Given the description of an element on the screen output the (x, y) to click on. 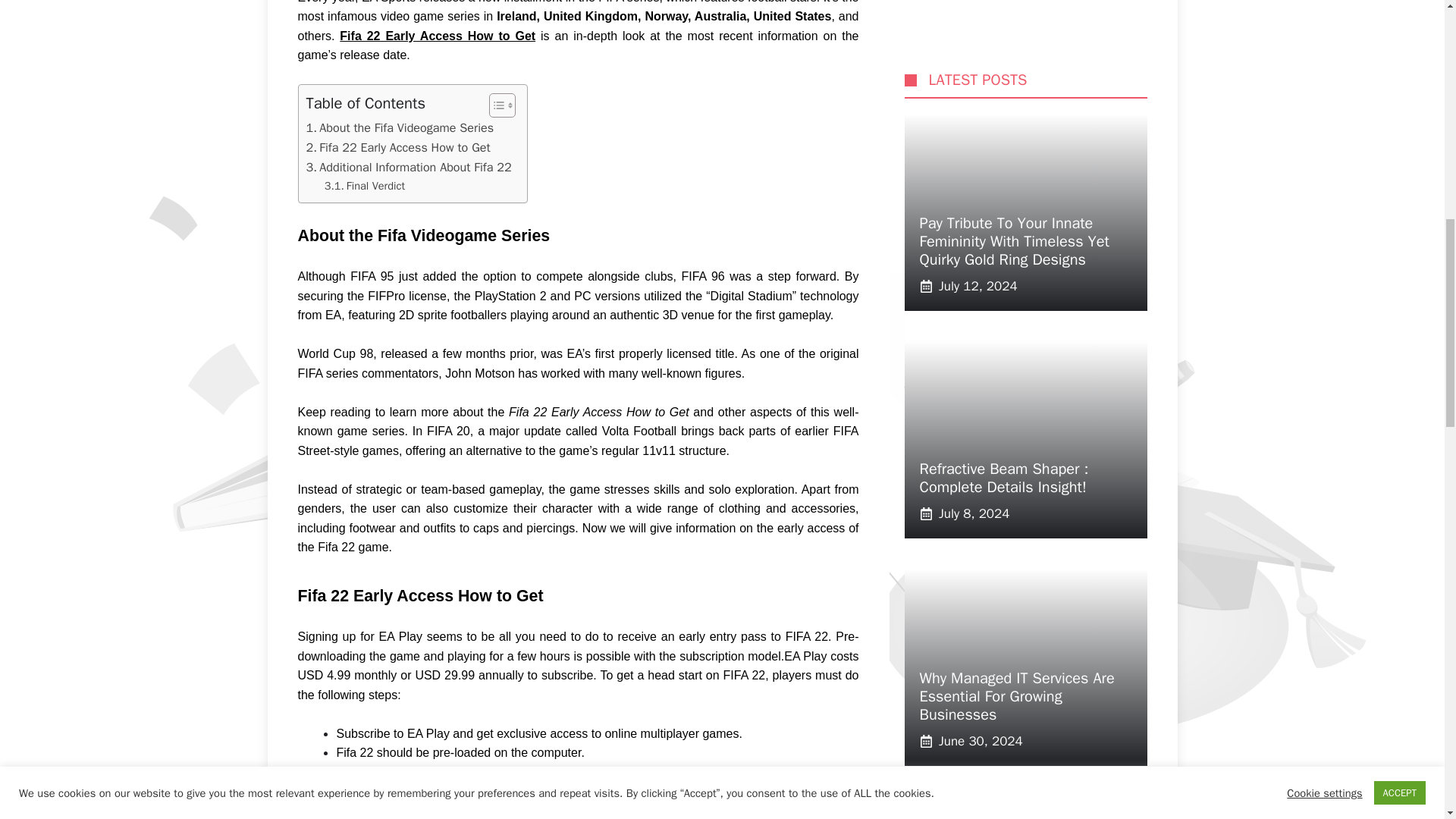
About the Fifa Videogame Series (400, 127)
Scroll back to top (1406, 720)
Final Verdict (364, 185)
Additional Information About Fifa 22 (408, 167)
Fifa 22 Early Access How to Get (397, 148)
